Given the description of an element on the screen output the (x, y) to click on. 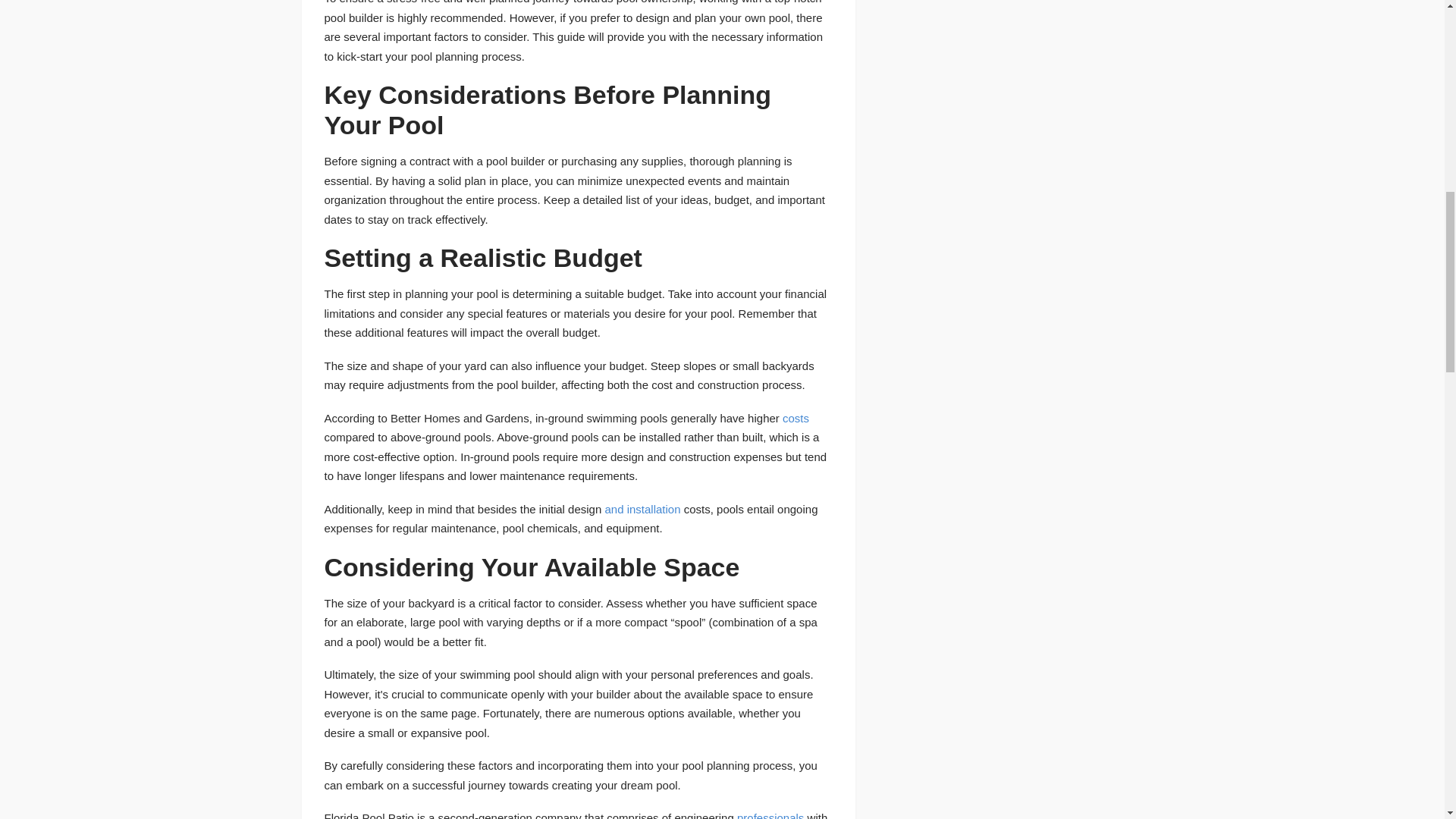
professionals (769, 815)
costs (796, 418)
Posts tagged with Costs (796, 418)
and installation (641, 508)
Posts tagged with And Installation (641, 508)
Posts tagged with professionals (769, 815)
